Given the description of an element on the screen output the (x, y) to click on. 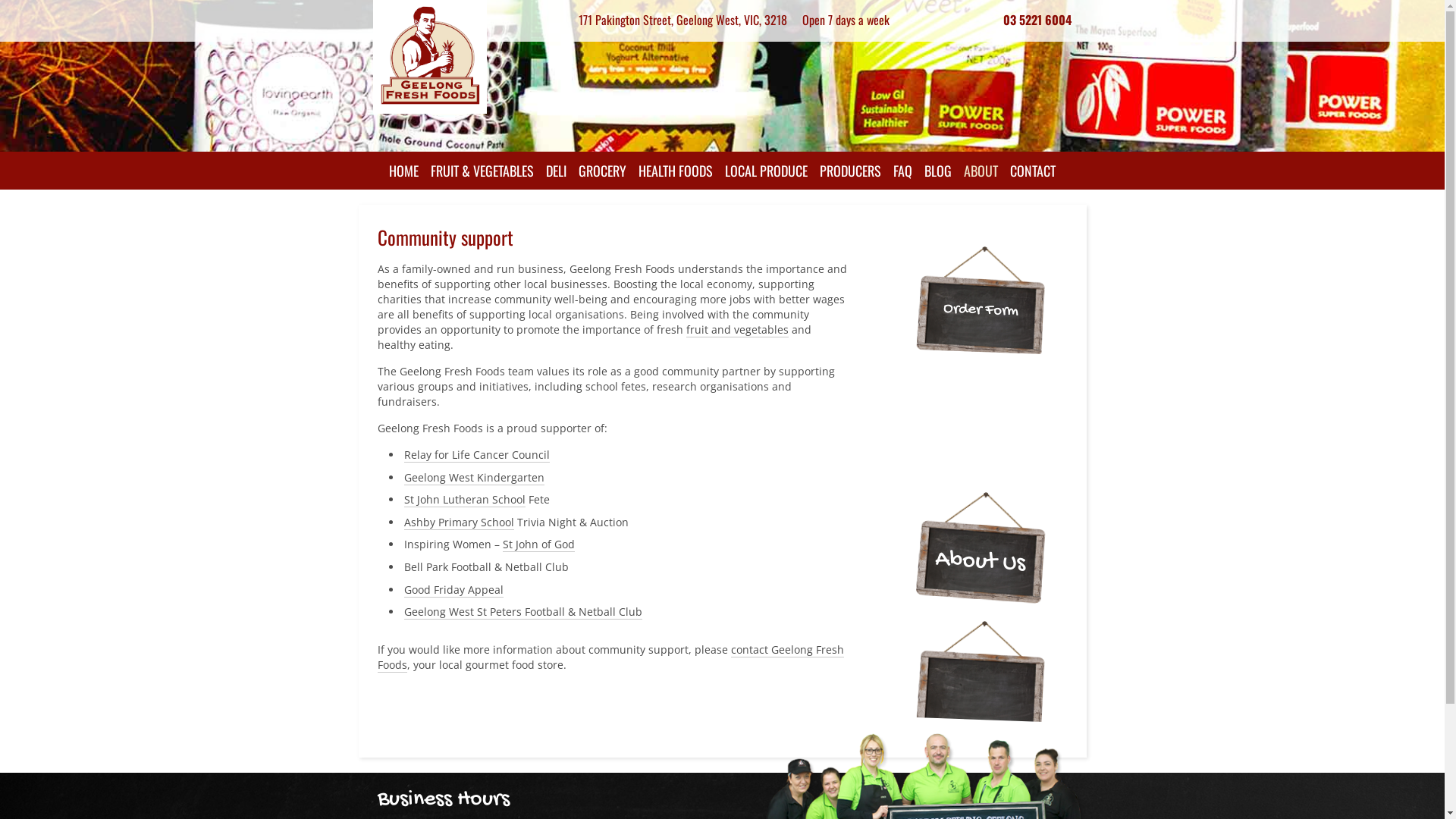
contact Geelong Fresh Foods Element type: text (610, 657)
St John Lutheran School Element type: text (463, 499)
ABOUT Element type: text (980, 170)
fruit and vegetables Element type: text (736, 329)
Relay for Life Cancer Council Element type: text (476, 454)
BLOG Element type: text (937, 170)
Ashby Primary School Element type: text (458, 522)
GROCERY Element type: text (602, 170)
Order Form Element type: text (980, 309)
HEALTH FOODS Element type: text (675, 170)
Geelong West Kindergarten Element type: text (473, 477)
HOME Element type: text (403, 170)
PRODUCERS Element type: text (850, 170)
FRUIT & VEGETABLES Element type: text (481, 170)
Geelong West St Peters Football & Netball Club Element type: text (522, 611)
DELI Element type: text (556, 170)
CONTACT Element type: text (1032, 170)
LOCAL PRODUCE Element type: text (765, 170)
Good Friday Appeal Element type: text (452, 589)
St John of God Element type: text (538, 544)
FAQ Element type: text (902, 170)
About Us Element type: text (979, 559)
Blog Element type: text (980, 428)
